Given the description of an element on the screen output the (x, y) to click on. 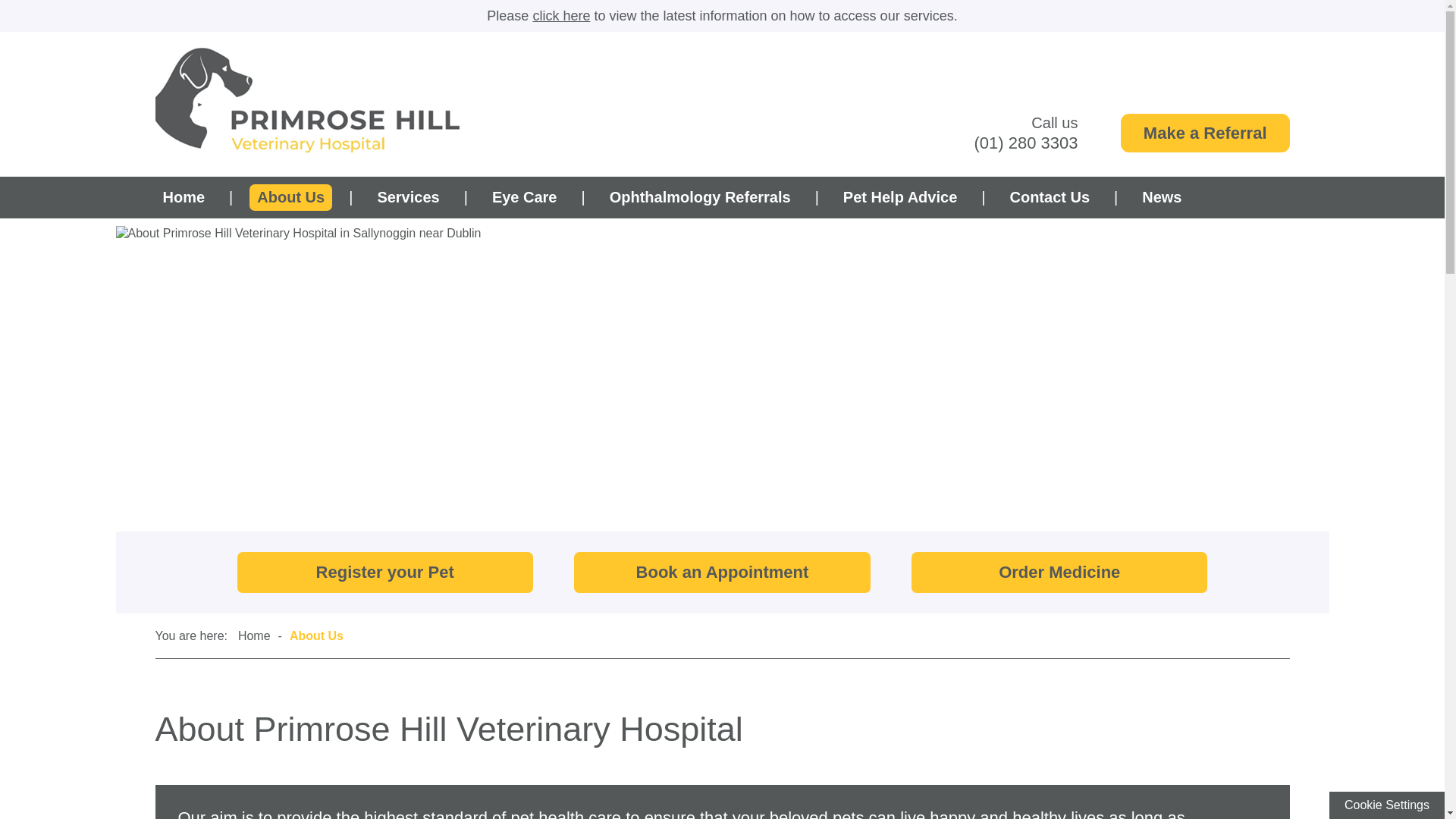
Eye Care (524, 197)
Pet Help Advice (899, 197)
Ophthalmology Referrals (699, 197)
click here (560, 15)
About Us (289, 197)
Make a Referral (1205, 132)
Services (407, 197)
Home (183, 197)
